Given the description of an element on the screen output the (x, y) to click on. 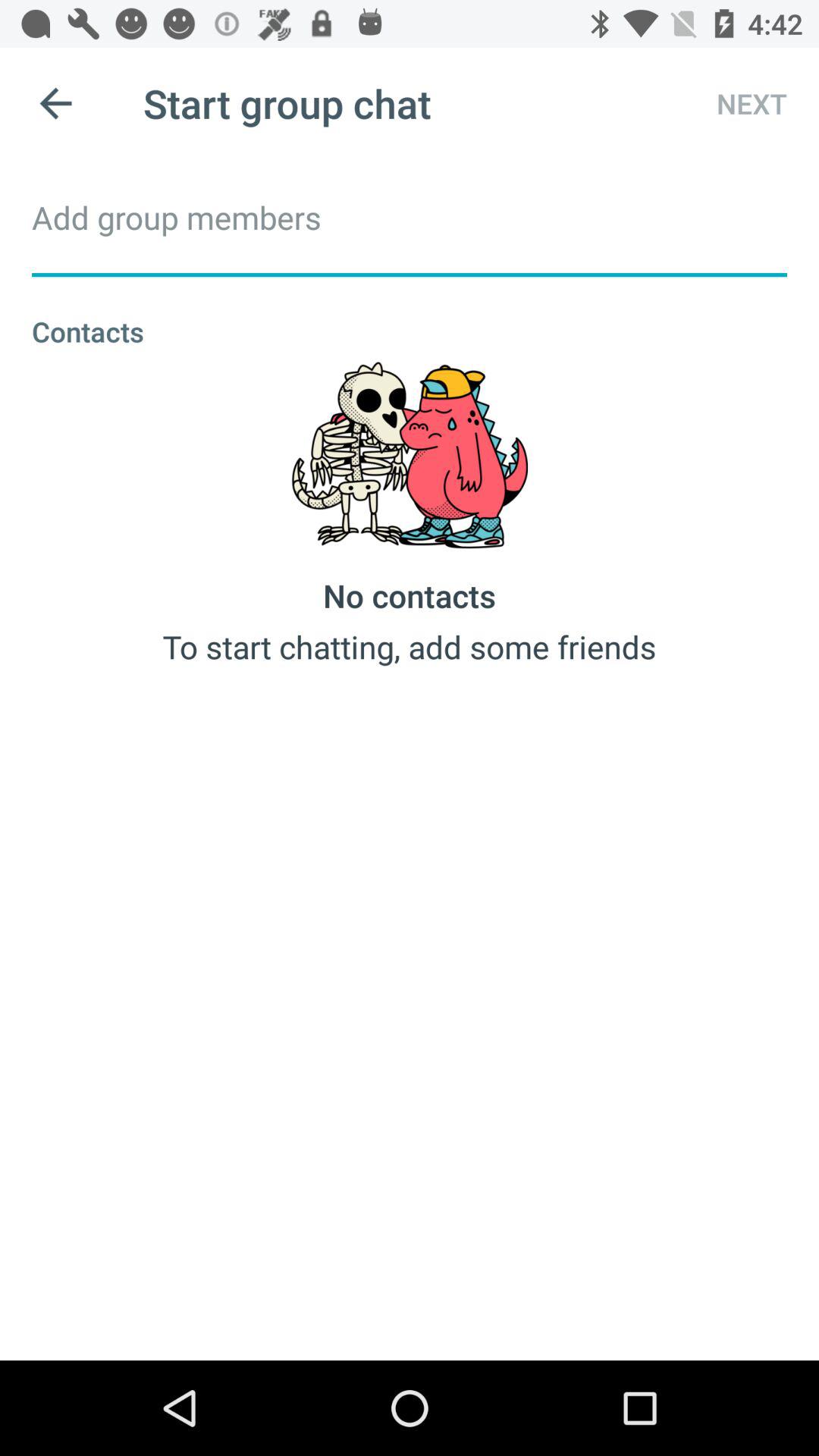
open icon next to start group chat icon (55, 103)
